Given the description of an element on the screen output the (x, y) to click on. 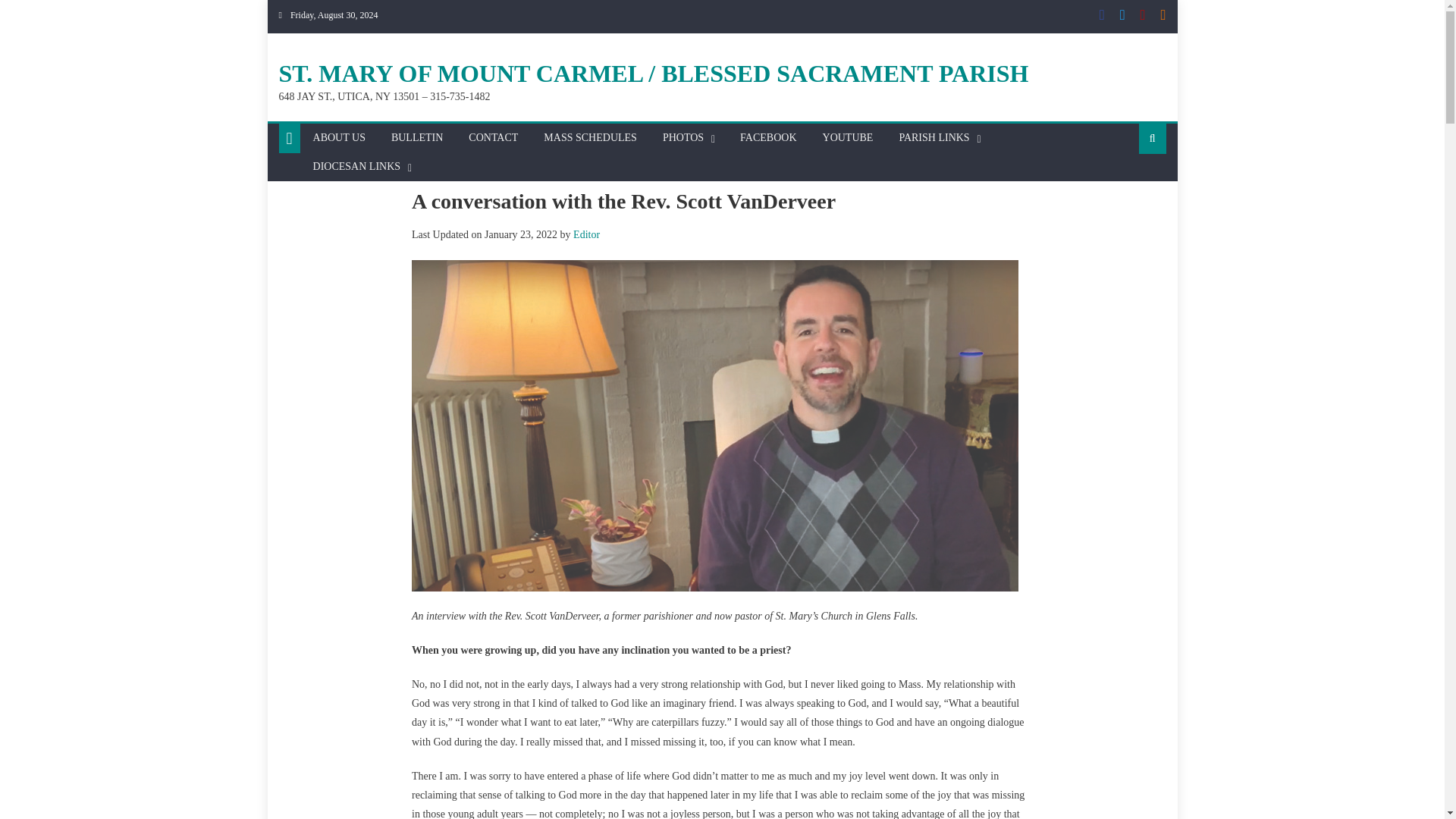
CONTACT (493, 137)
MASS SCHEDULES (589, 137)
PARISH LINKS (932, 137)
PHOTOS (682, 137)
YOUTUBE (847, 137)
ABOUT US (339, 137)
BULLETIN (417, 137)
FACEBOOK (768, 137)
